Given the description of an element on the screen output the (x, y) to click on. 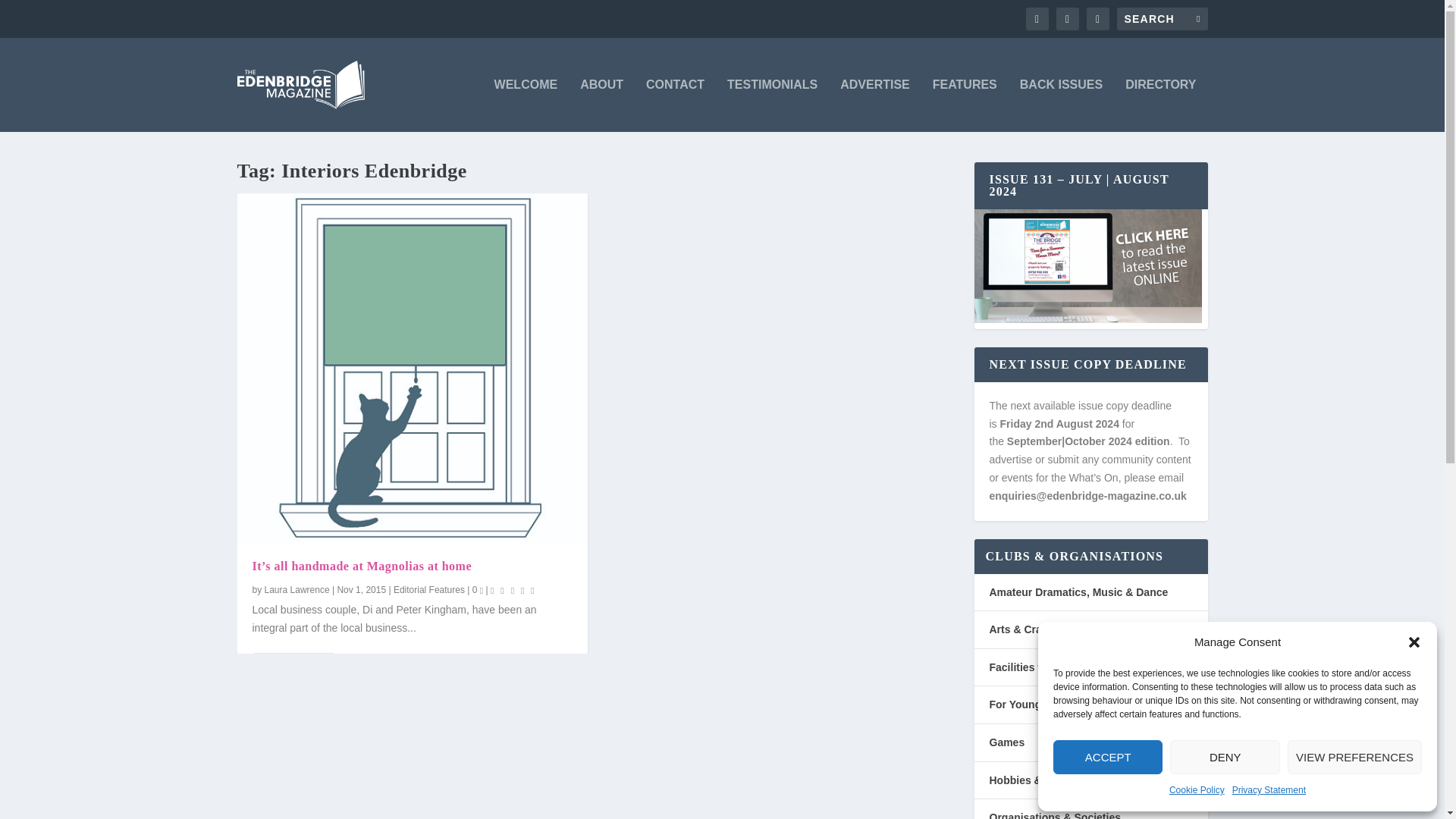
Privacy Statement (1268, 791)
ADVERTISE (875, 104)
TESTIMONIALS (771, 104)
WELCOME (526, 104)
Rating: 0.00 (514, 589)
Laura Lawrence (297, 589)
DENY (1224, 756)
VIEW PREFERENCES (1354, 756)
FEATURES (965, 104)
ACCEPT (1106, 756)
Cookie Policy (1196, 791)
DIRECTORY (1160, 104)
Posts by Laura Lawrence (297, 589)
CONTACT (675, 104)
BACK ISSUES (1061, 104)
